Given the description of an element on the screen output the (x, y) to click on. 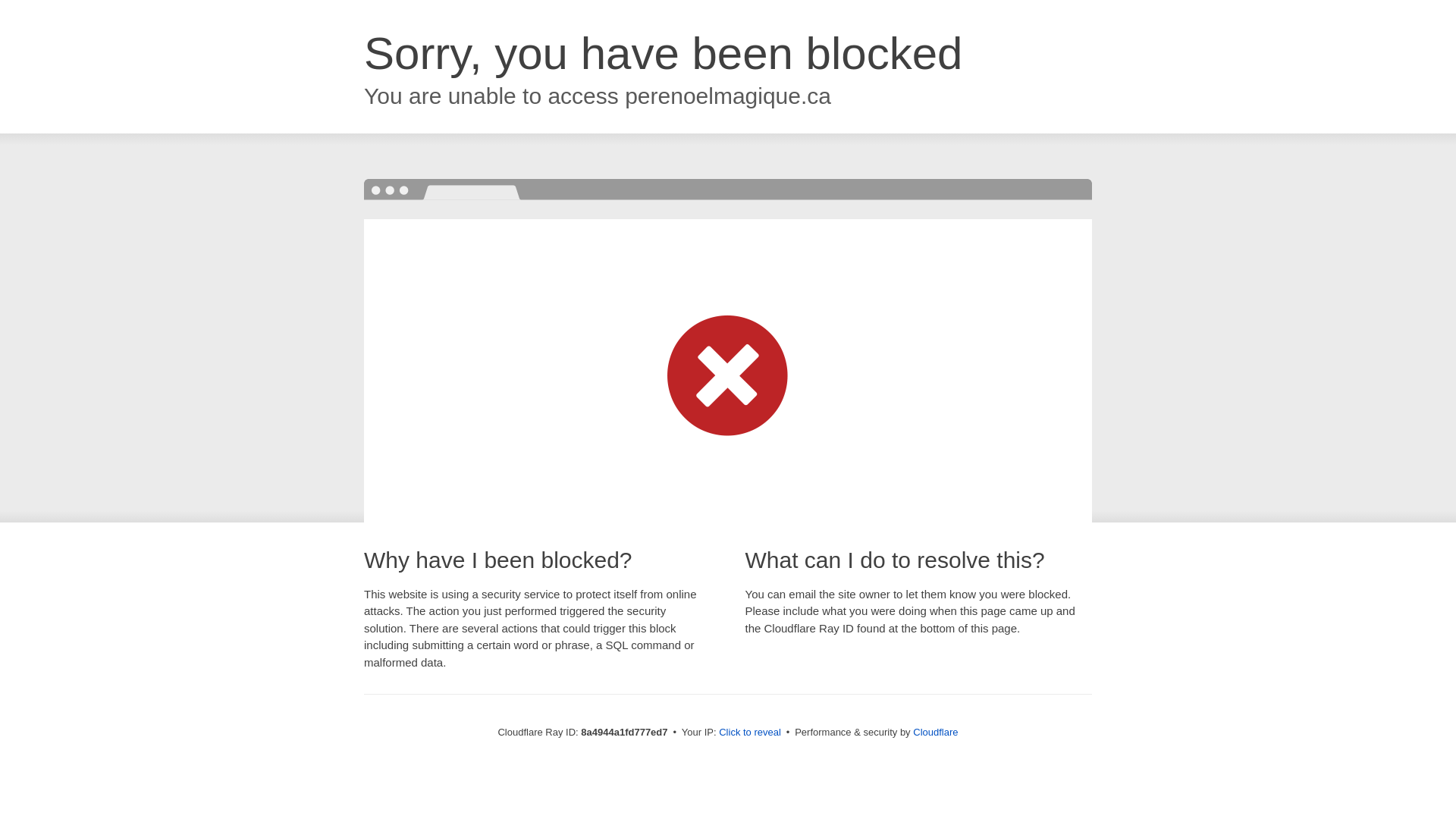
Cloudflare (935, 731)
Click to reveal (749, 732)
